Given the description of an element on the screen output the (x, y) to click on. 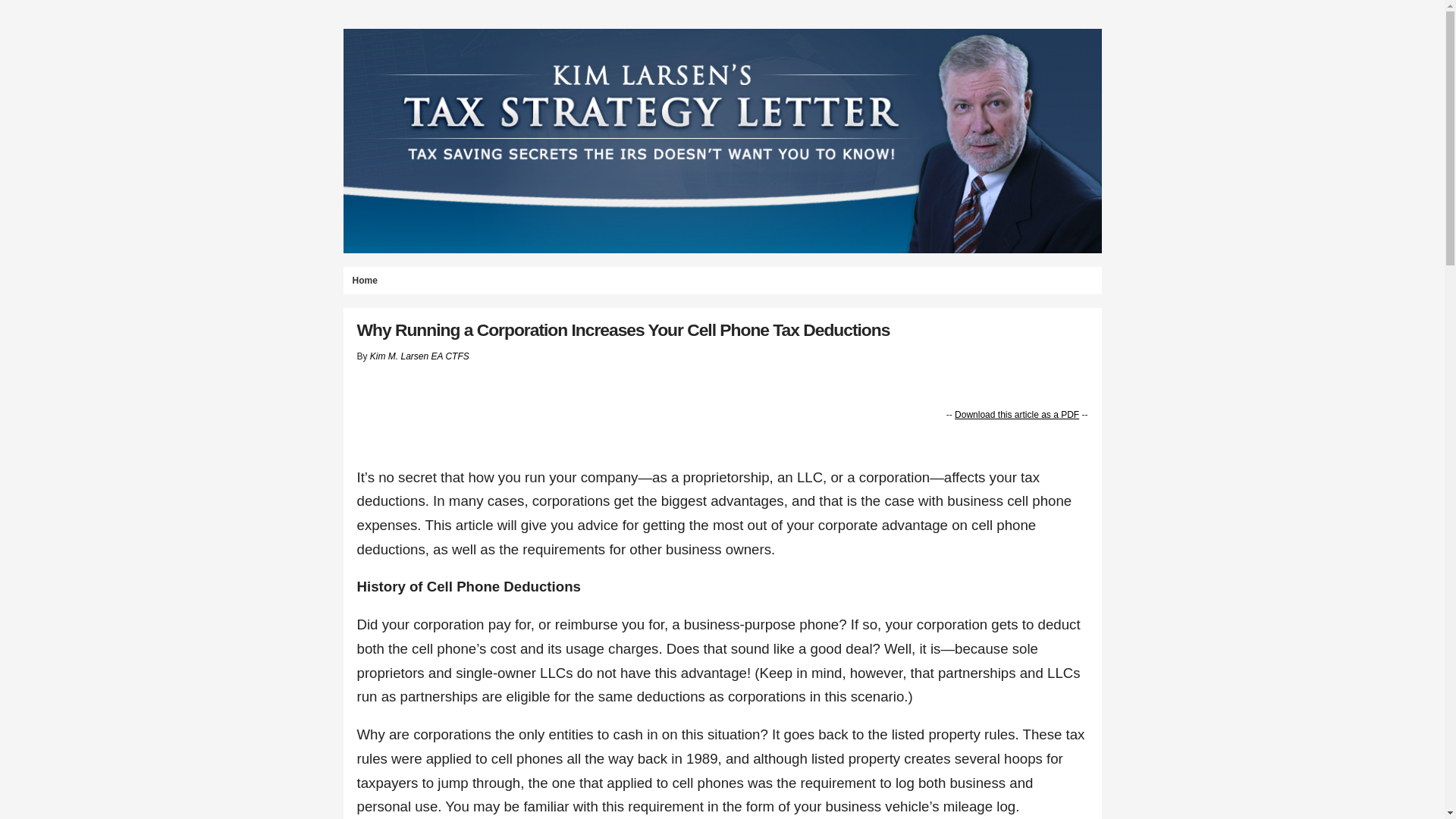
Kim M. Larsen EA CTFS (418, 356)
Download this article as a PDF (1016, 414)
Home (363, 280)
Kim M. Larsen EA CTFS (418, 356)
